Given the description of an element on the screen output the (x, y) to click on. 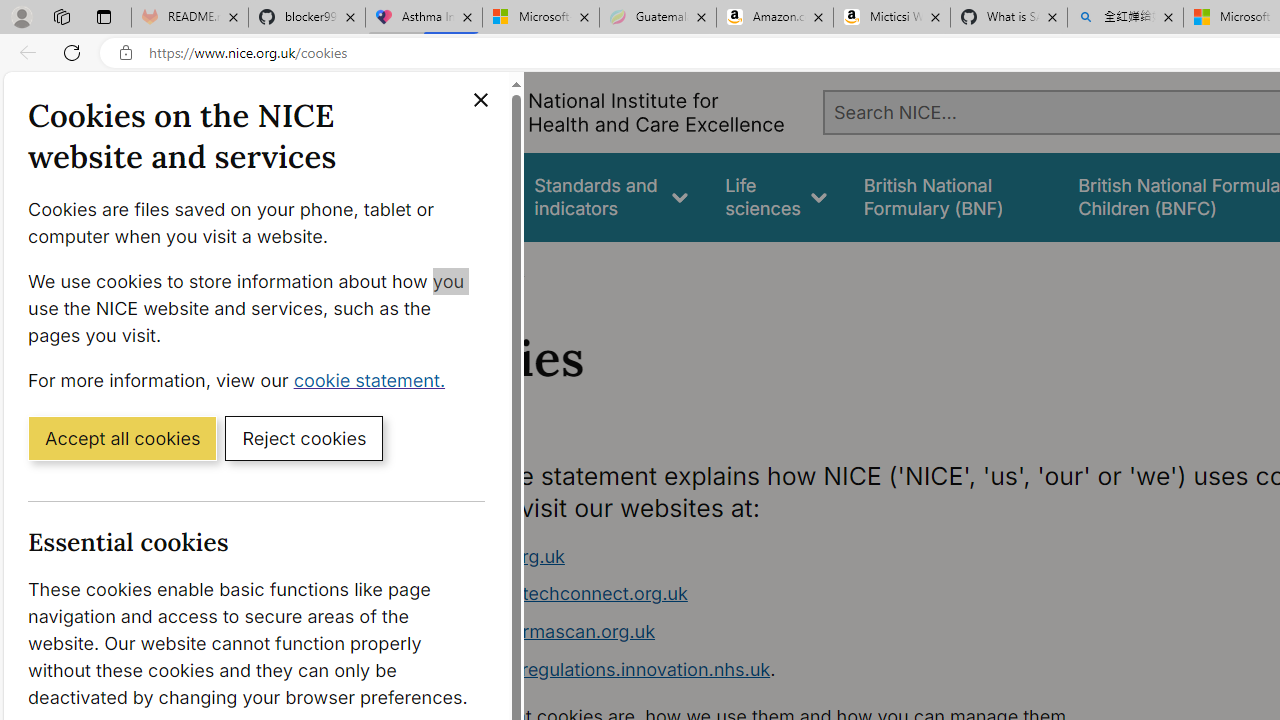
www.nice.org.uk (796, 556)
About (498, 268)
www.healthtechconnect.org.uk (554, 593)
www.nice.org.uk (492, 556)
www.digitalregulations.innovation.nhs.uk (595, 668)
Accept all cookies (122, 437)
Guidance (458, 196)
www.healthtechconnect.org.uk (796, 594)
www.ukpharmascan.org.uk (796, 632)
Guidance (458, 196)
